Given the description of an element on the screen output the (x, y) to click on. 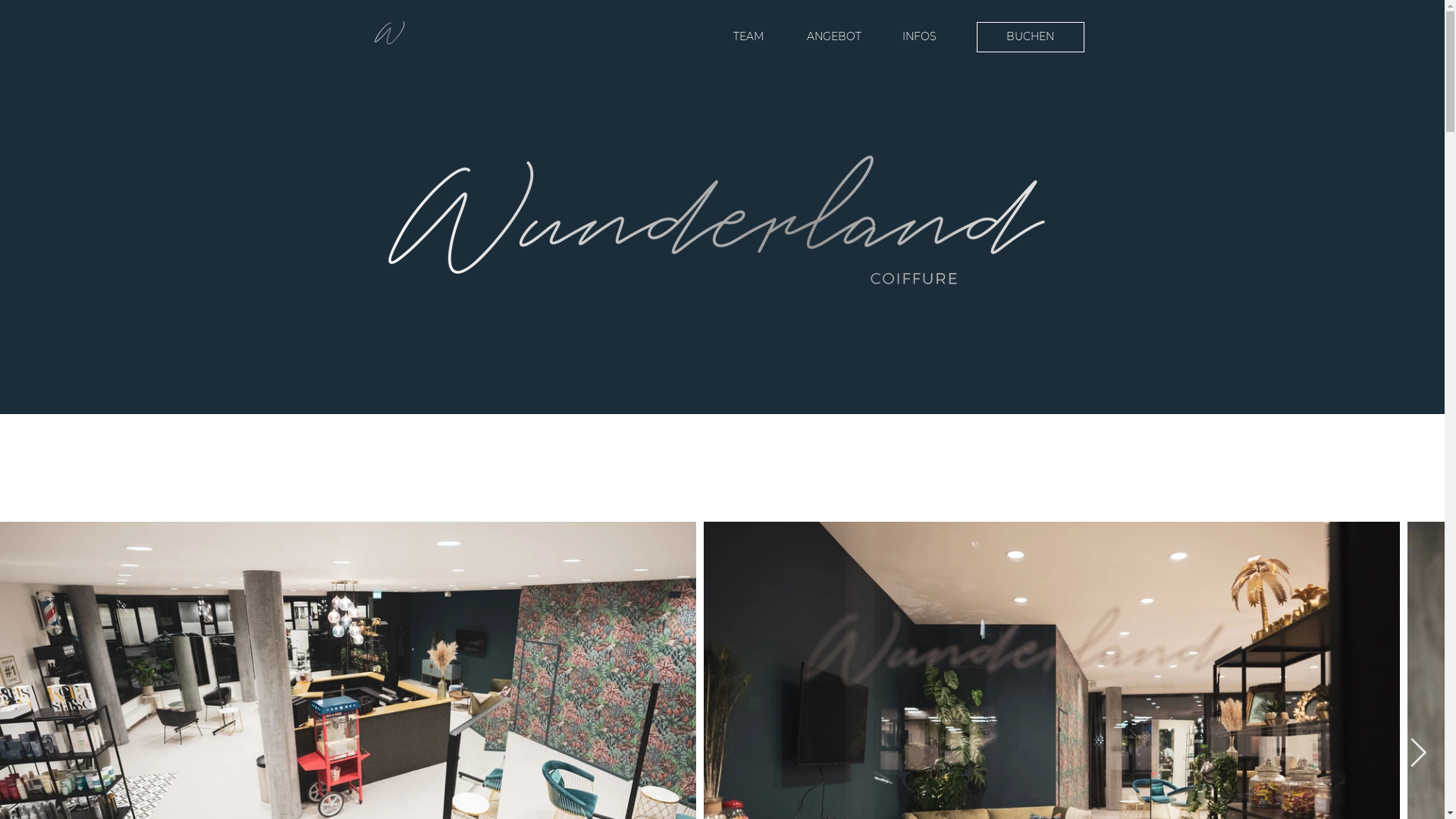
BUCHEN Element type: text (1030, 36)
TEAM Element type: text (747, 36)
INFOS Element type: text (919, 36)
ANGEBOT Element type: text (834, 36)
